Given the description of an element on the screen output the (x, y) to click on. 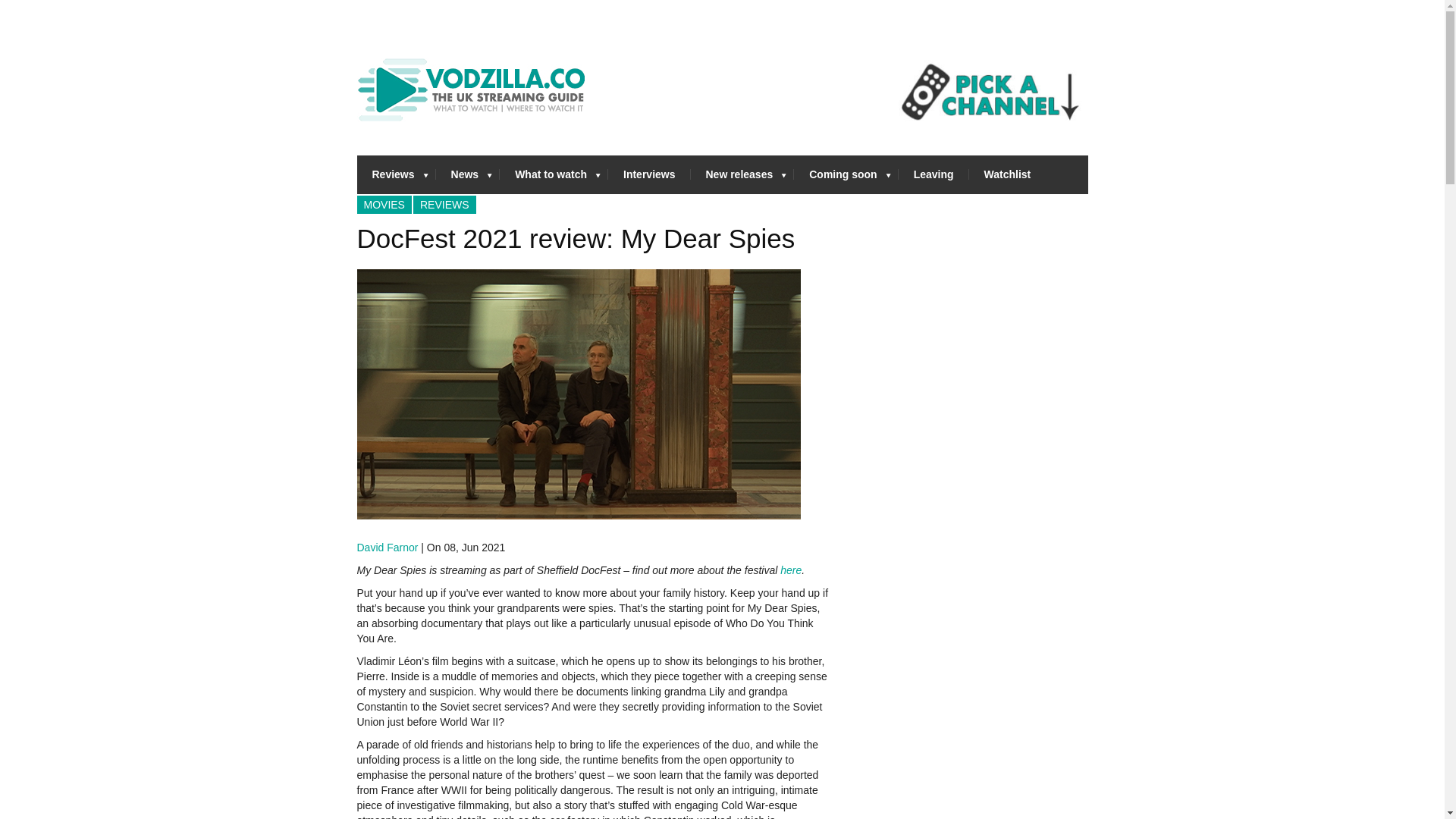
Interviews (649, 174)
New releases (741, 174)
Coming soon (845, 174)
